Given the description of an element on the screen output the (x, y) to click on. 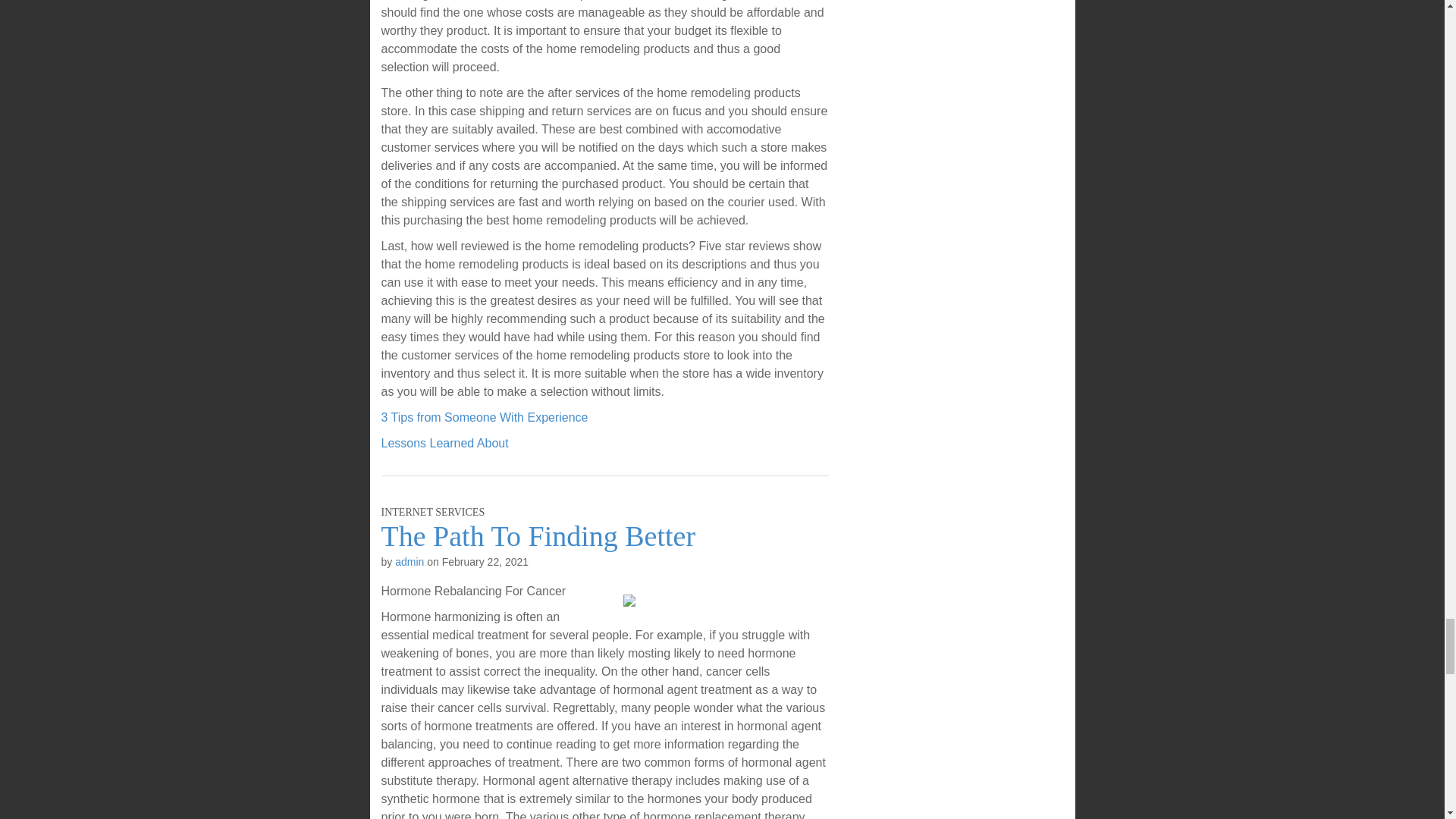
Posts by admin (408, 562)
